Given the description of an element on the screen output the (x, y) to click on. 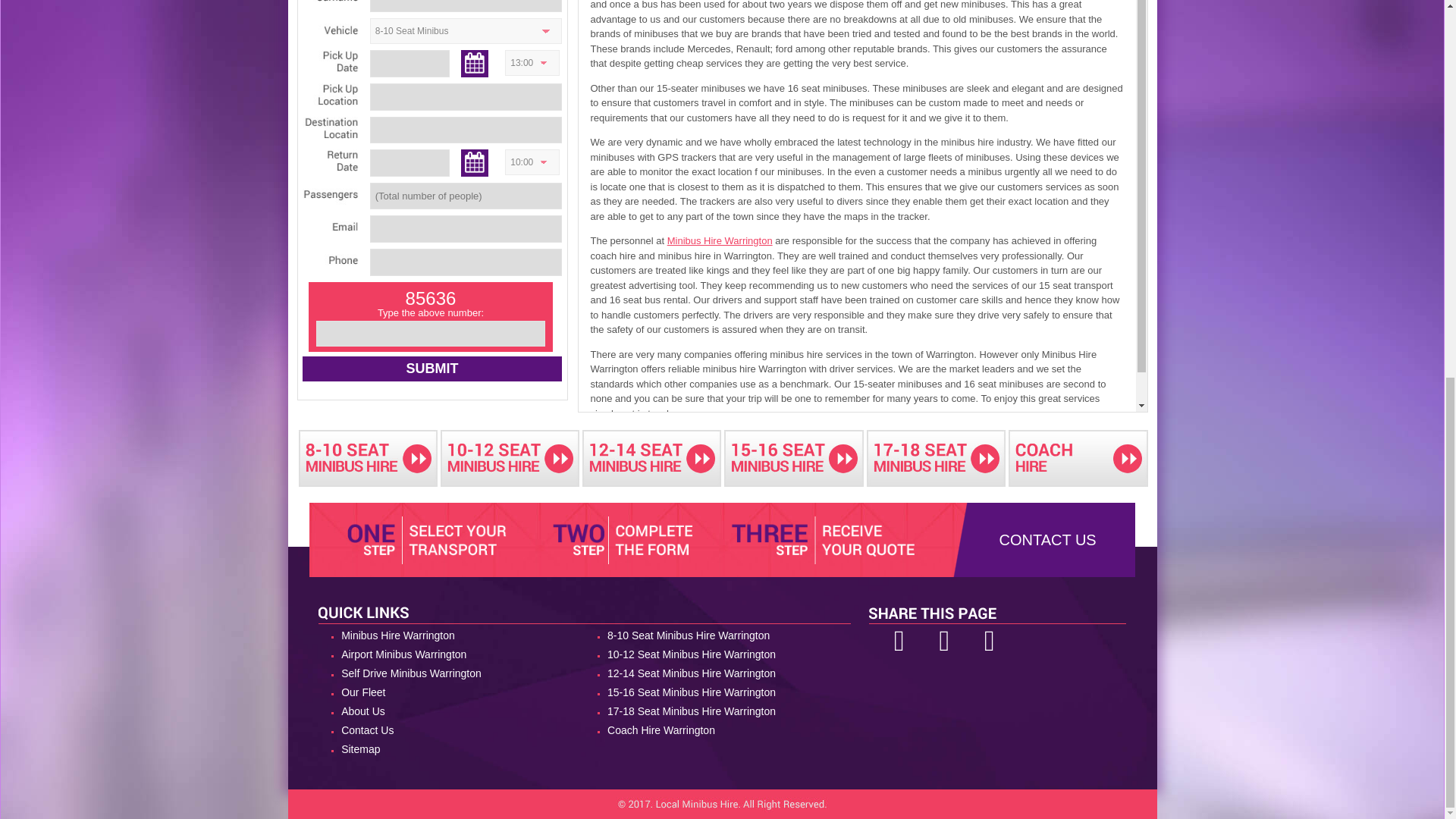
CONTACT US (1047, 539)
Airport Minibus Warrington (451, 654)
Submit (431, 368)
Minibus Hire Warrington (719, 240)
Minibus Hire Warrington (451, 635)
Submit (431, 368)
